Given the description of an element on the screen output the (x, y) to click on. 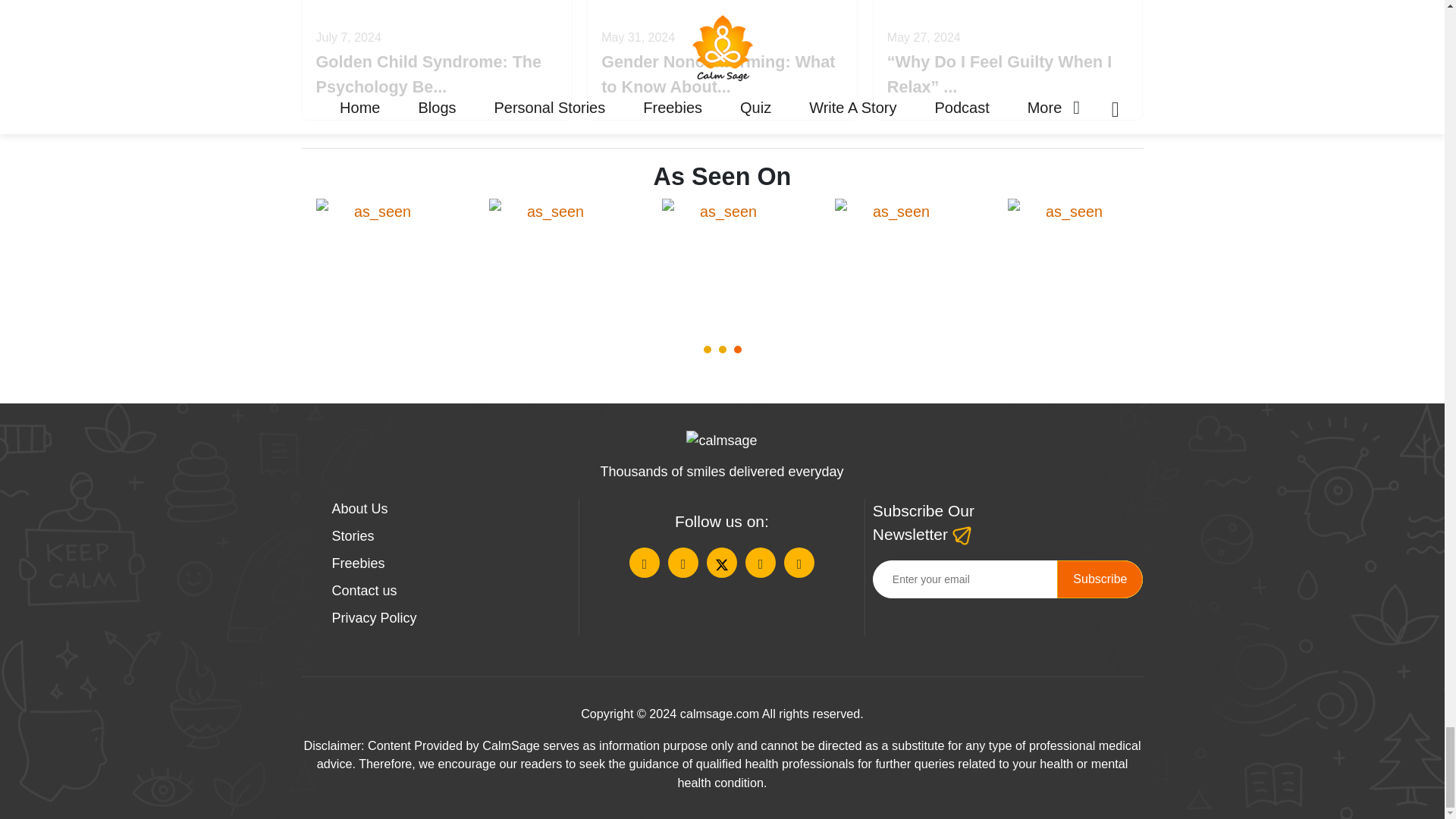
Subscribe (1099, 579)
